Given the description of an element on the screen output the (x, y) to click on. 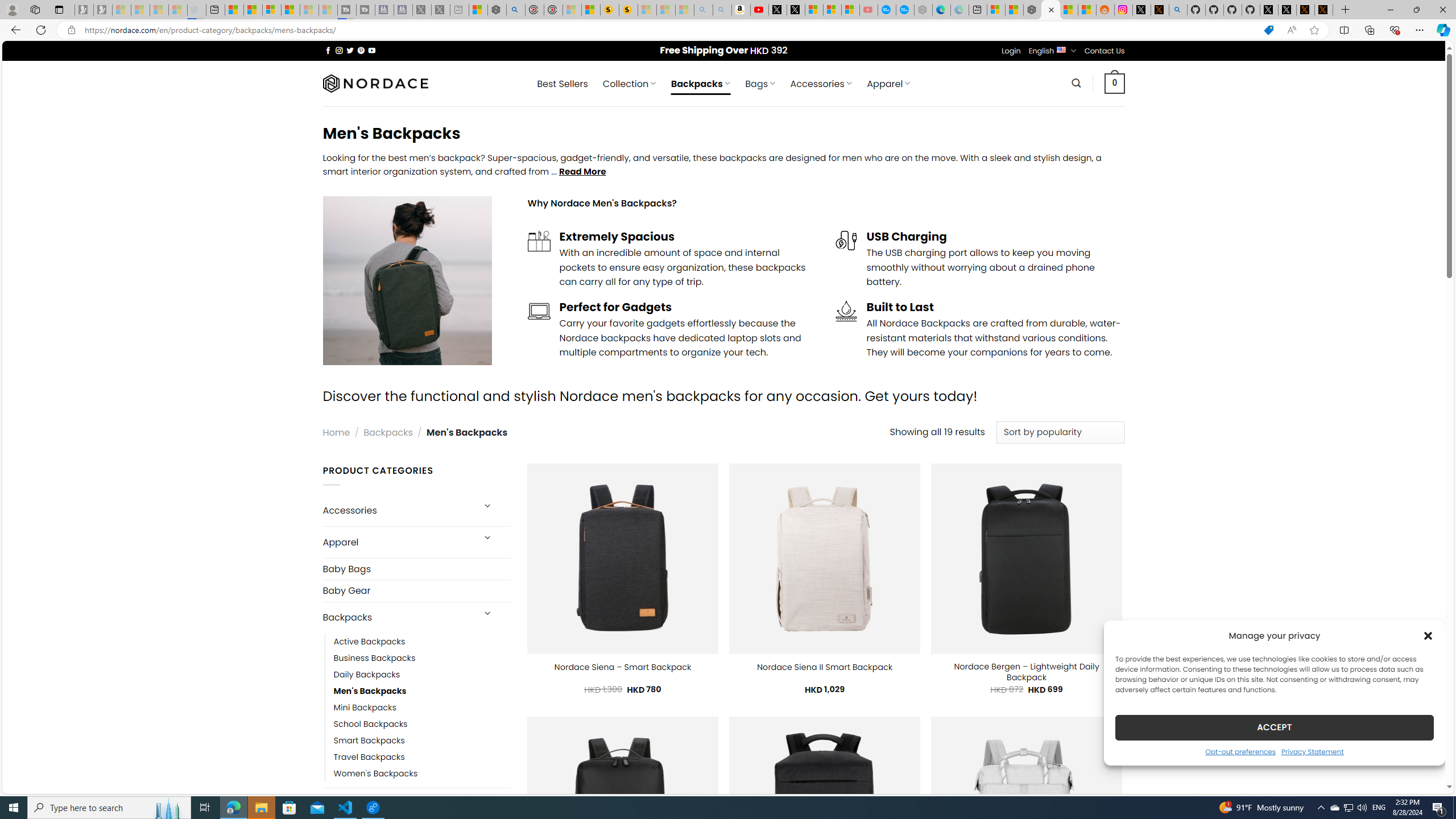
Business Backpacks (374, 657)
Bags (397, 803)
Business Backpacks (422, 657)
Privacy Statement (1312, 750)
App bar (728, 29)
Men's Backpacks (422, 690)
